Given the description of an element on the screen output the (x, y) to click on. 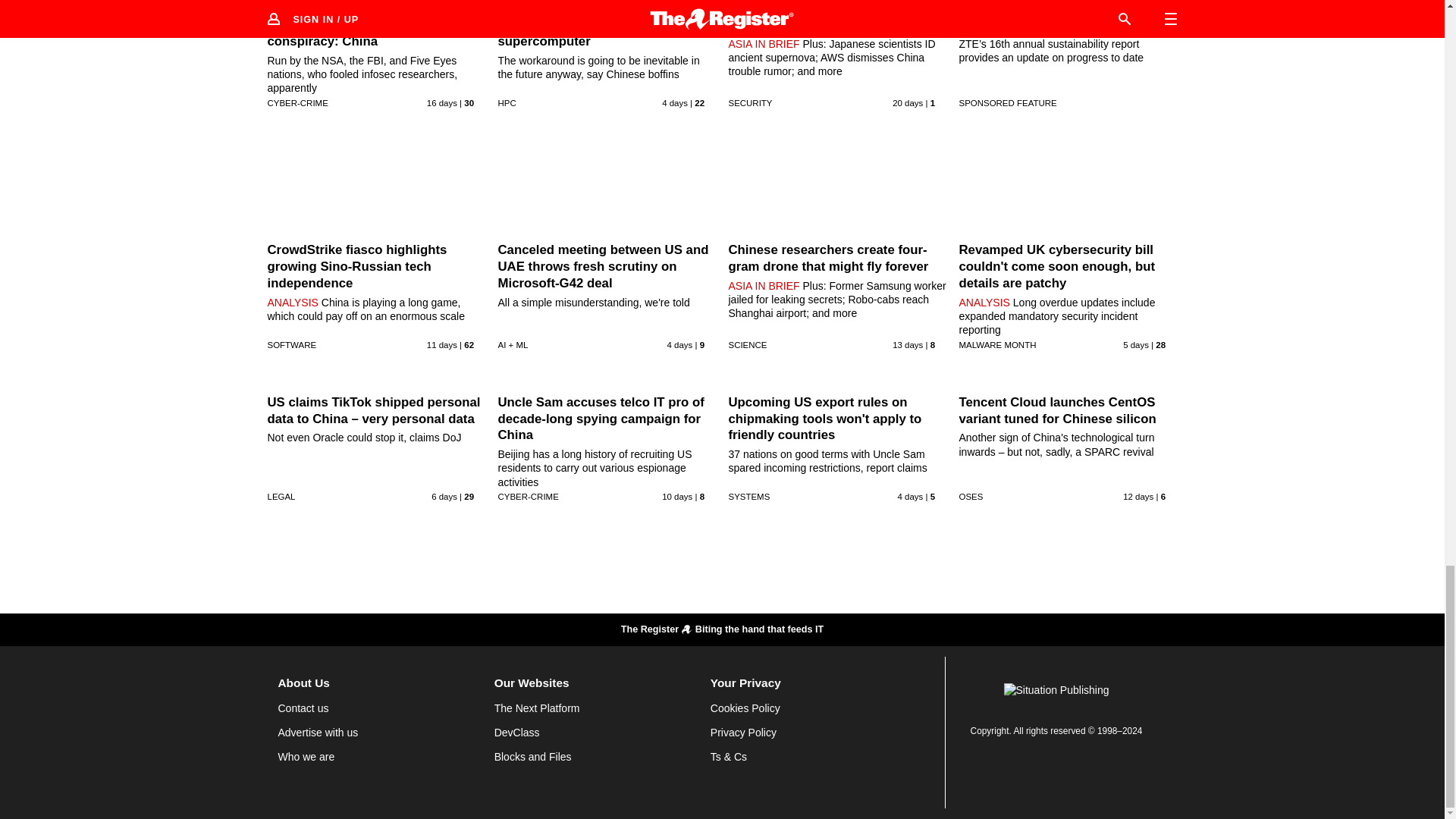
15 Jul 2024 0:3 (907, 102)
31 Jul 2024 6:59 (674, 102)
22 Jul 2024 1:53 (907, 344)
24 Jul 2024 13:3 (441, 344)
31 Jul 2024 6:40 (679, 344)
25 Jul 2024 17:15 (677, 496)
19 Jul 2024 5:9 (441, 102)
29 Jul 2024 4:29 (443, 496)
30 Jul 2024 8:31 (1135, 344)
